Given the description of an element on the screen output the (x, y) to click on. 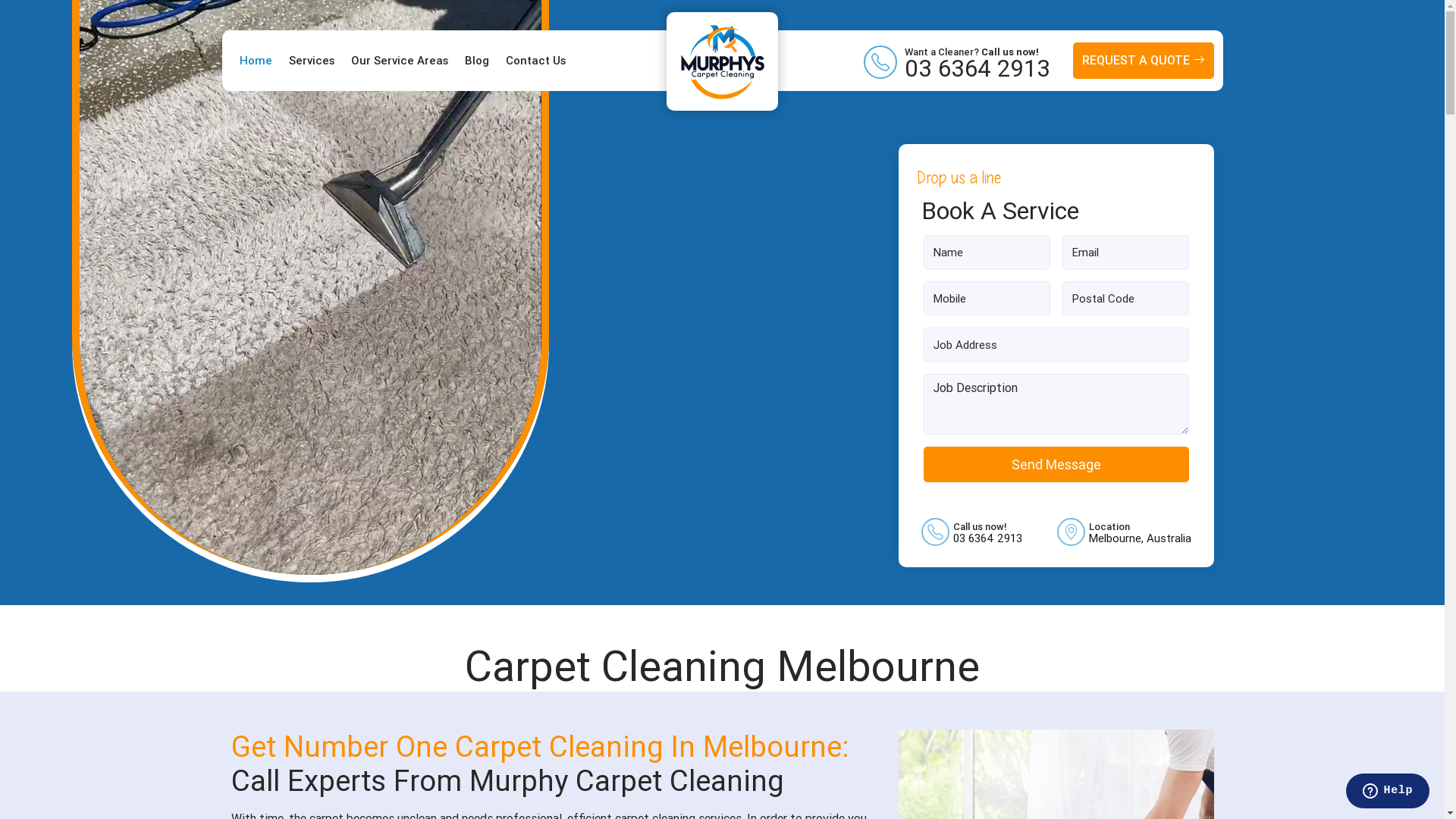
Location
Melbourne, Australia Element type: text (1139, 530)
Home Element type: text (255, 60)
Opens a widget where you can chat to one of our agents Element type: hover (1387, 792)
Contact Us Element type: text (534, 60)
Our Service Areas Element type: text (398, 60)
REQUEST A QUOTE Element type: text (1142, 60)
Send Message Element type: text (1056, 464)
Services Element type: text (310, 60)
Blog Element type: text (475, 60)
Want a Cleaner? Call us now!
03 6364 2913 Element type: text (976, 60)
Call us now!
03 6364 2913 Element type: text (986, 530)
